Given the description of an element on the screen output the (x, y) to click on. 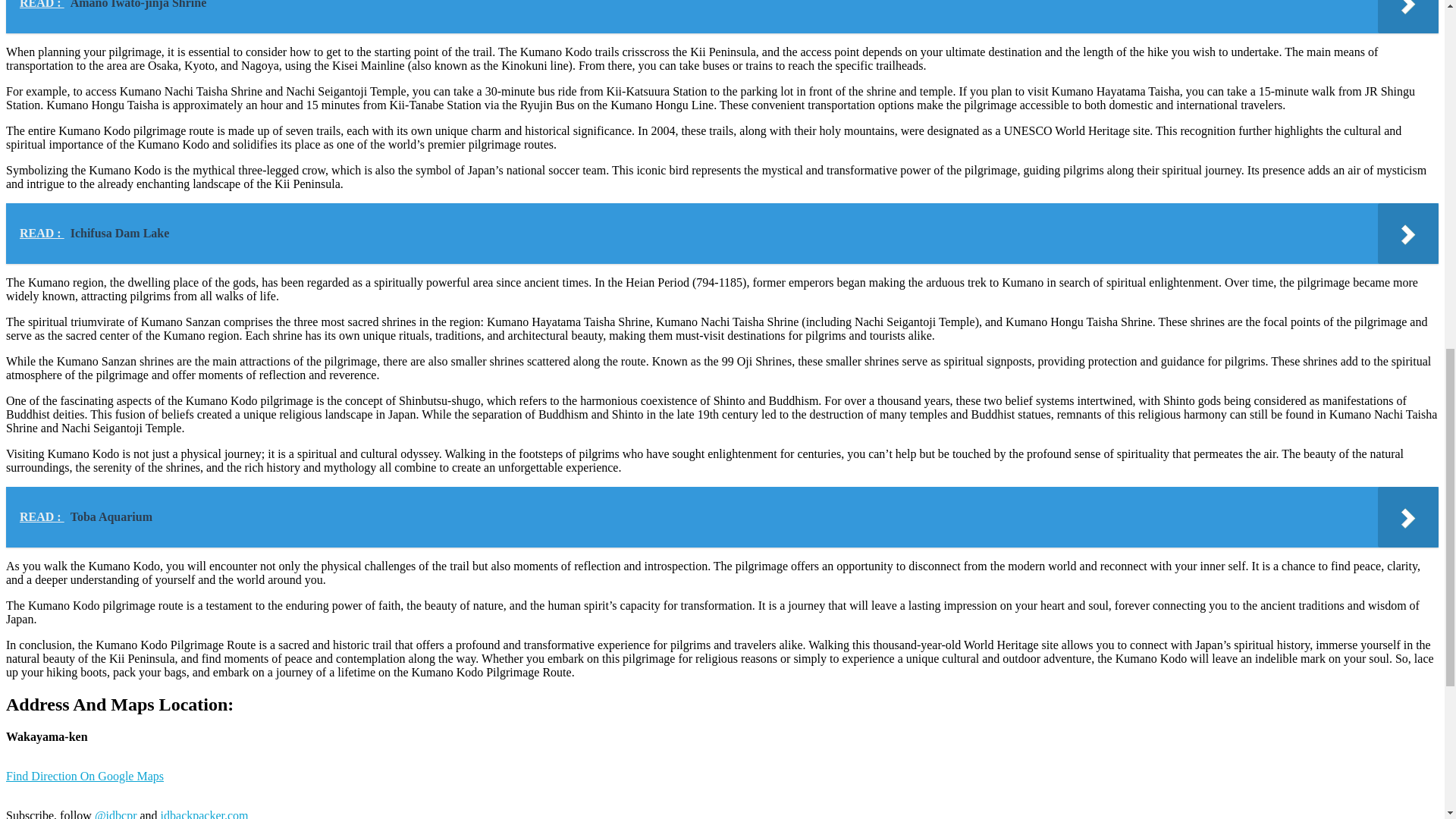
idbackpacker.com (204, 814)
Find Direction On Google Maps (84, 782)
